Given the description of an element on the screen output the (x, y) to click on. 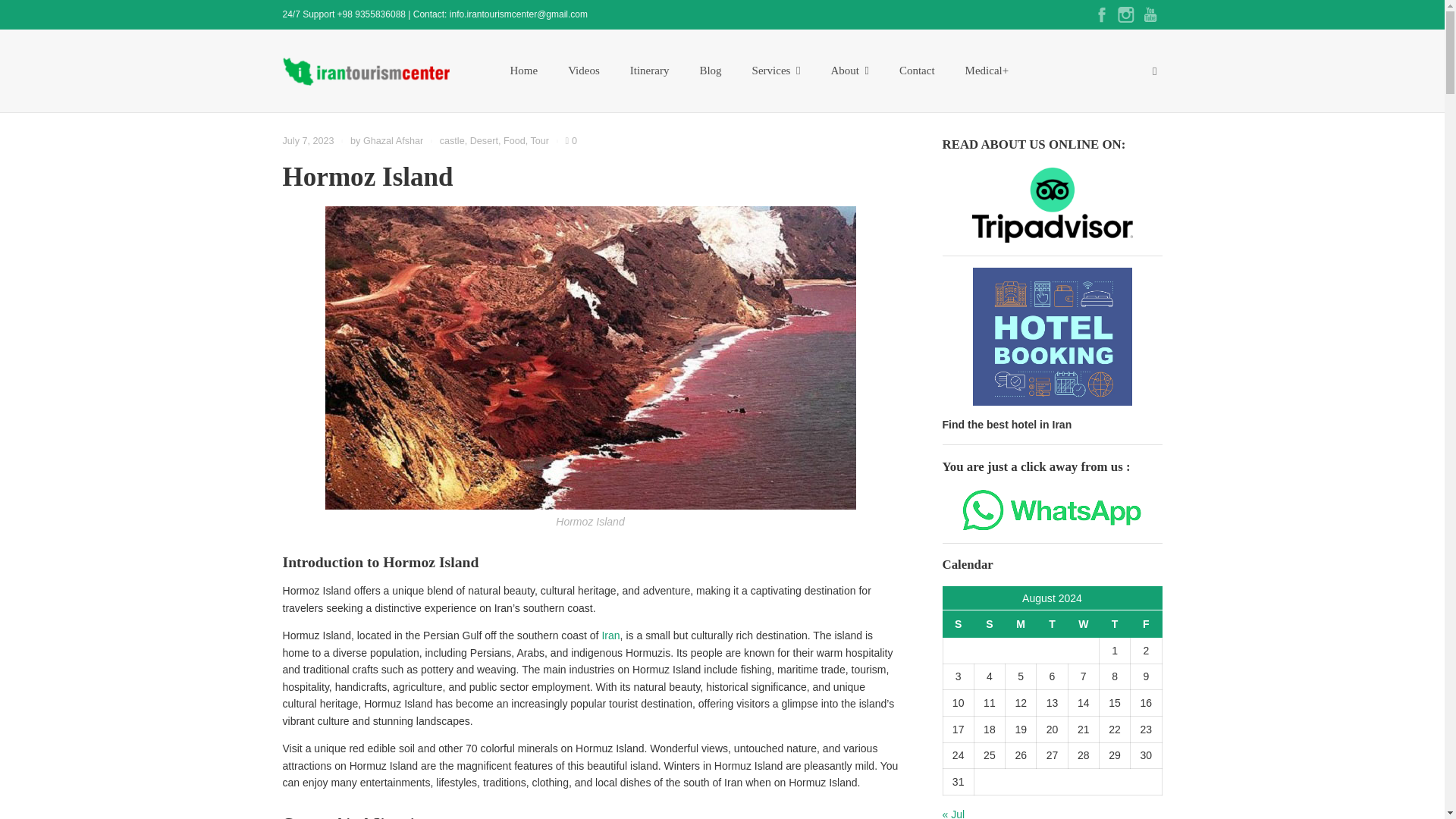
Tuesday (1051, 624)
Services (775, 70)
Thursday (1114, 624)
Wednesday (1083, 624)
Instagram (1125, 14)
Facebook (1101, 14)
Friday (1146, 624)
Saturday (958, 624)
Monday (1021, 624)
Sunday (989, 624)
